Given the description of an element on the screen output the (x, y) to click on. 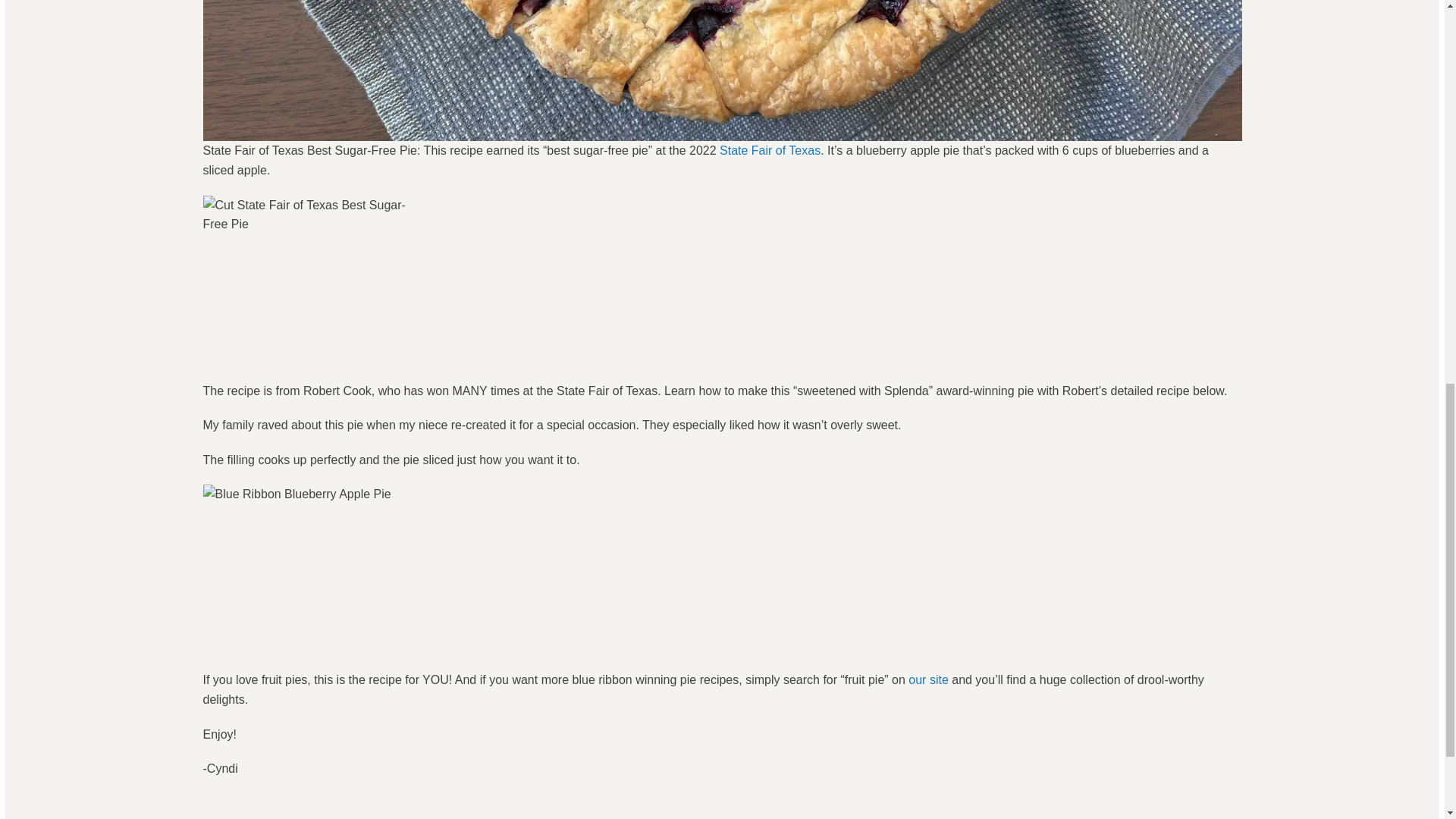
State Fair of Texas (770, 150)
our site (927, 679)
